Given the description of an element on the screen output the (x, y) to click on. 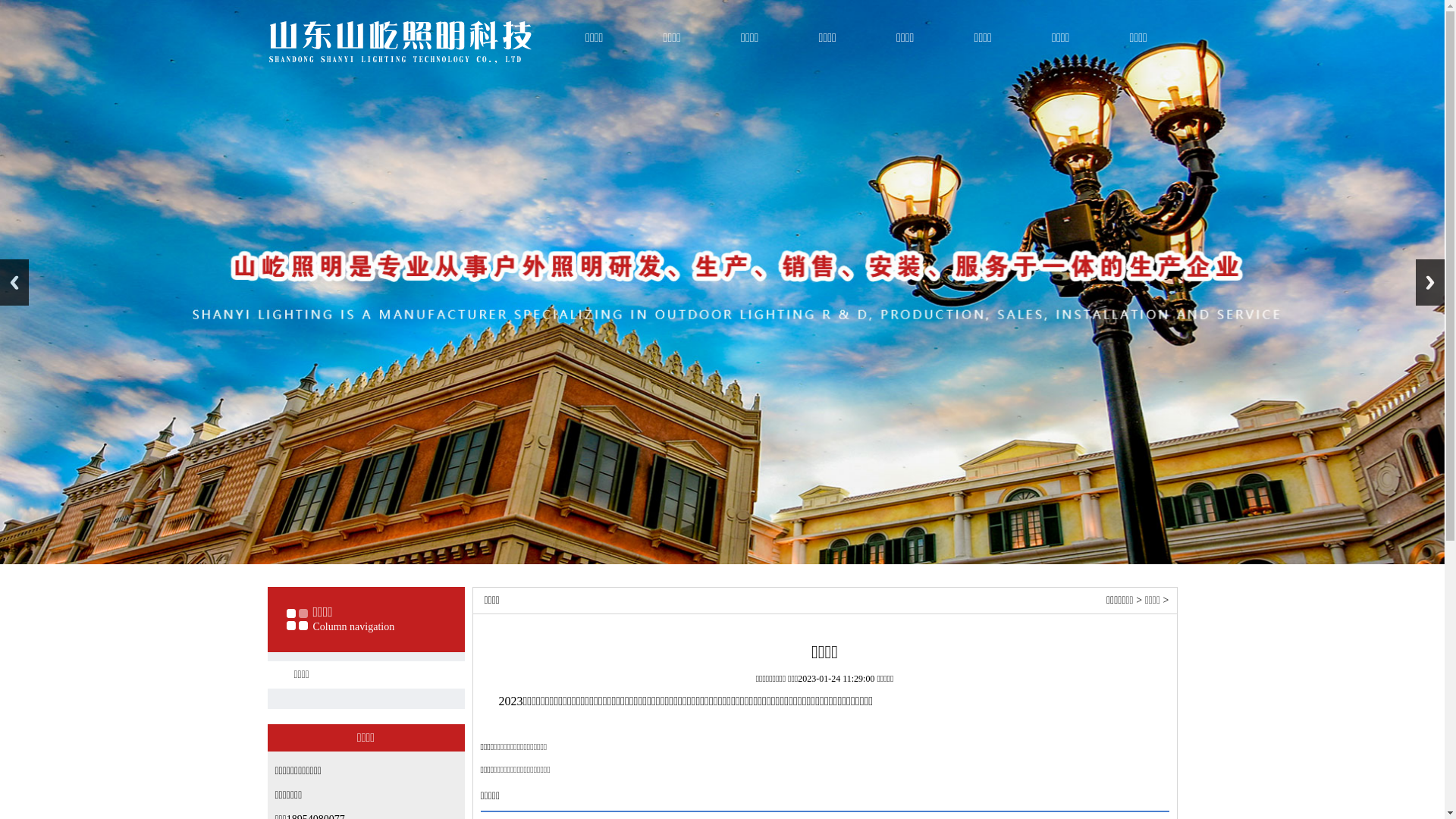
Previous Element type: text (14, 282)
